Given the description of an element on the screen output the (x, y) to click on. 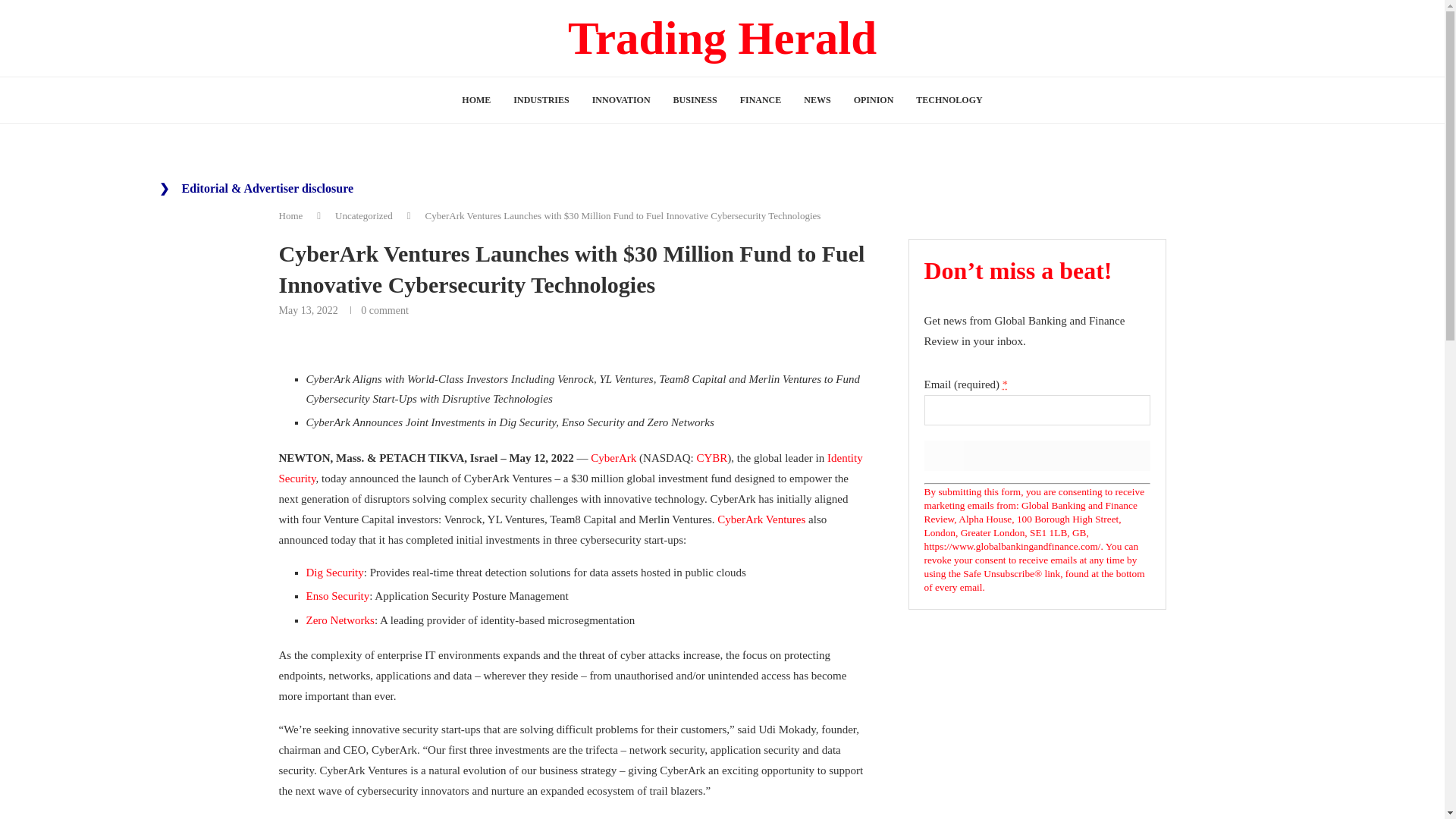
INNOVATION (621, 100)
TECHNOLOGY (948, 100)
Home (290, 215)
INDUSTRIES (541, 100)
 Identity Security (571, 468)
Trading Herald (721, 38)
FINANCE (760, 100)
 CyberArk (612, 458)
Uncategorized (363, 215)
OPINION (873, 100)
